Given the description of an element on the screen output the (x, y) to click on. 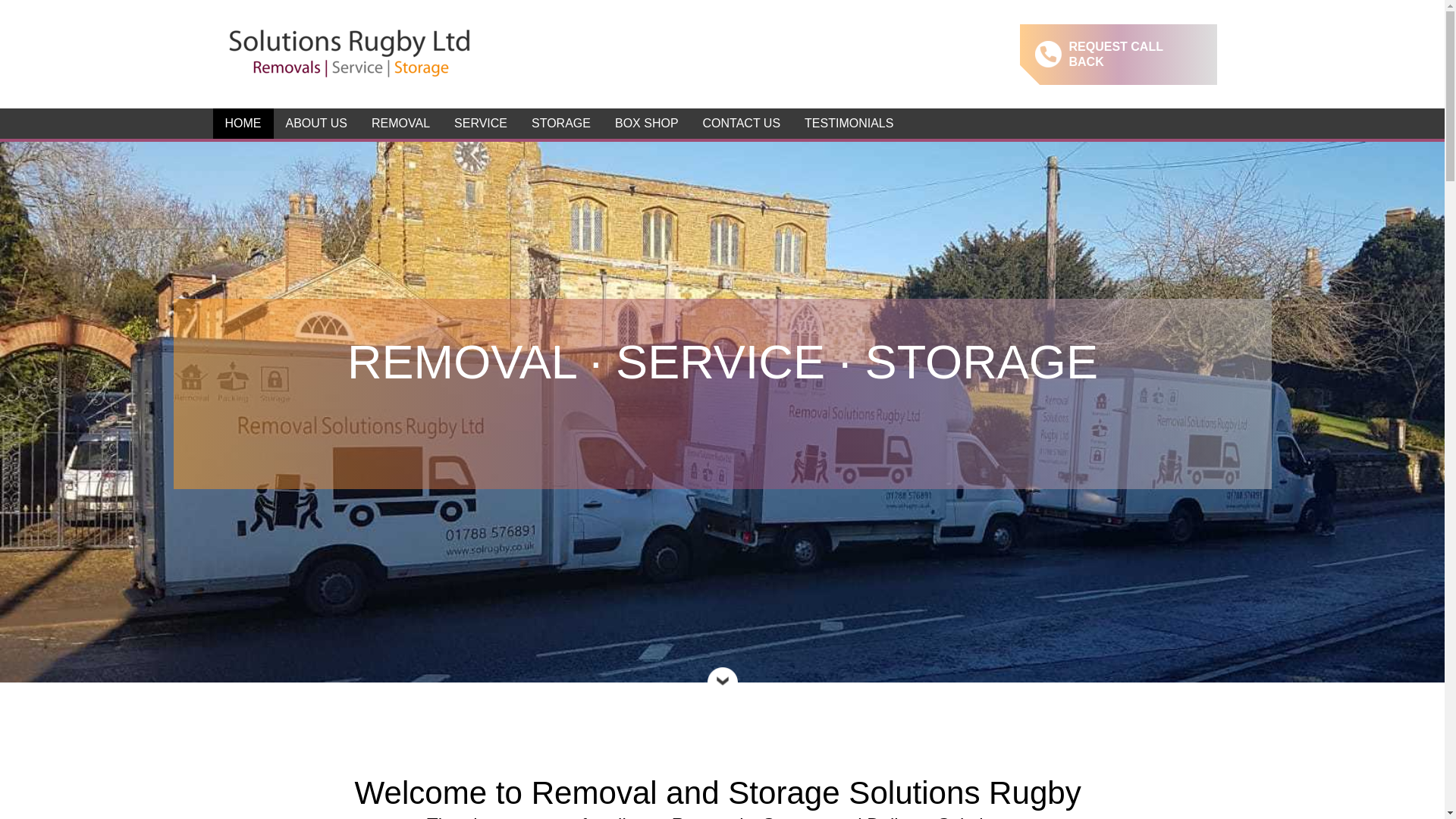
STORAGE (560, 123)
CONTACT US (741, 123)
TESTIMONIALS (848, 123)
BOX SHOP (646, 123)
REMOVAL (400, 123)
ABOUT US (316, 123)
REQUEST CALL BACK (1117, 53)
SERVICE (480, 123)
